Given the description of an element on the screen output the (x, y) to click on. 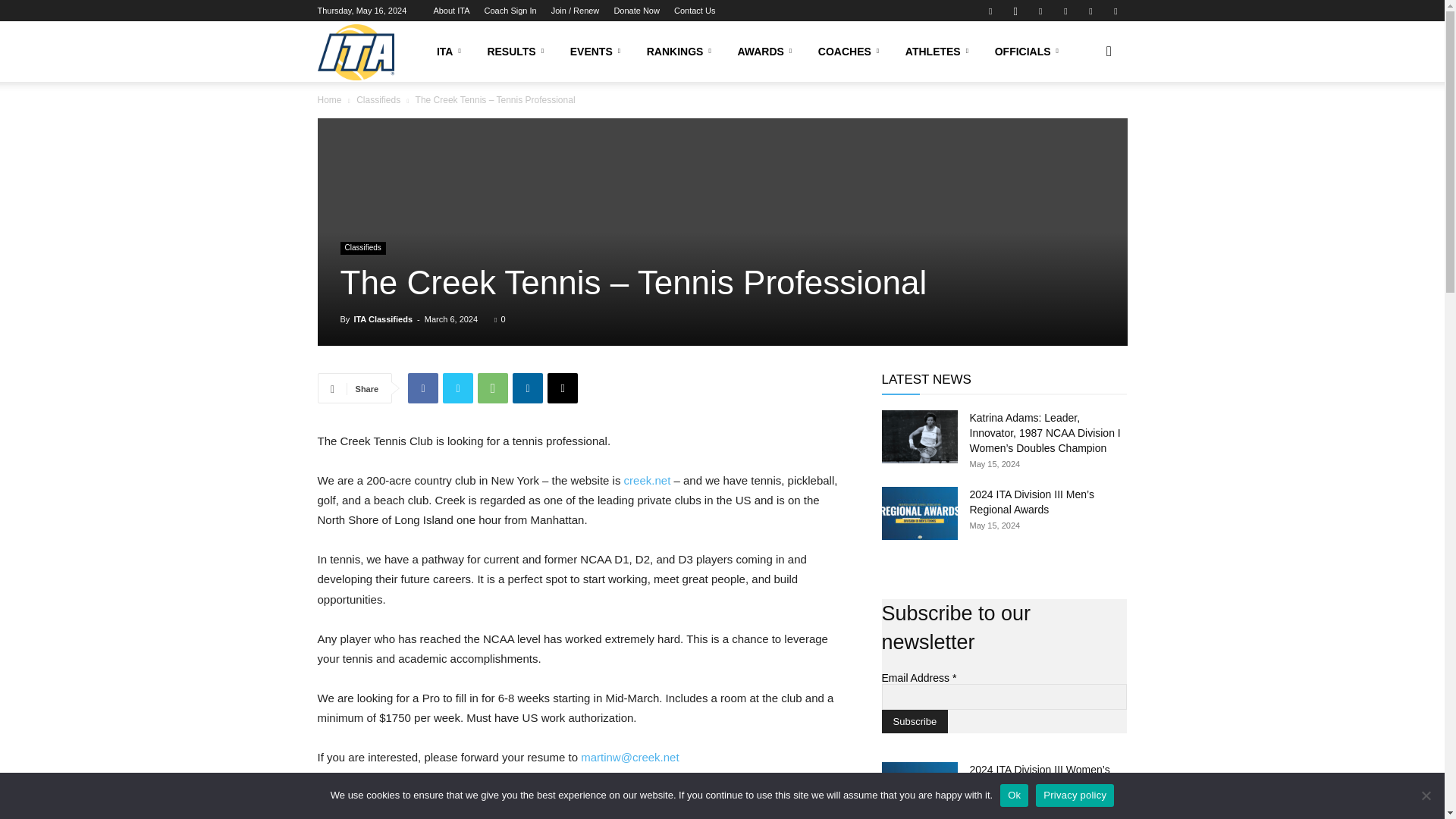
Linkedin (1040, 10)
TikTok (1065, 10)
Youtube (1114, 10)
Instagram (1015, 10)
Facebook (989, 10)
Subscribe (913, 721)
Twitter (1090, 10)
